Given the description of an element on the screen output the (x, y) to click on. 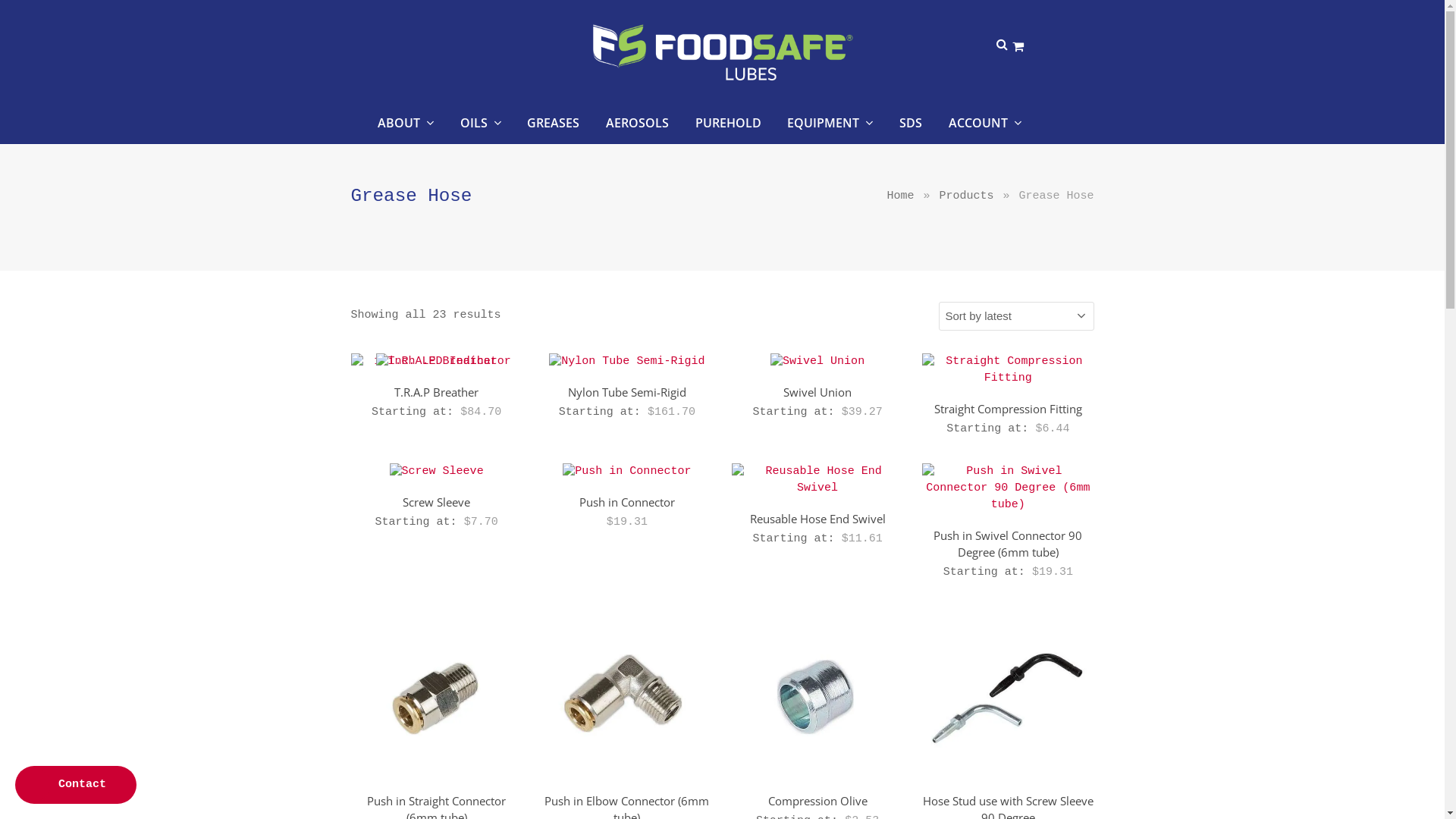
T.R.A.P Breather Element type: text (435, 391)
ACCOUNT Element type: text (984, 125)
OILS Element type: text (480, 125)
Home Element type: text (899, 195)
EQUIPMENT Element type: text (830, 125)
GREASES Element type: text (553, 125)
Reusable Hose End Swivel Element type: text (817, 518)
Push in Connector Element type: text (626, 501)
Swivel Union Element type: text (817, 391)
Compression Olive Element type: text (817, 800)
Products Element type: text (965, 195)
PUREHOLD Element type: text (728, 125)
Search Element type: text (24, 13)
AEROSOLS Element type: text (637, 125)
Straight Compression Fitting Element type: text (1007, 408)
ABOUT Element type: text (405, 125)
Contact Element type: text (75, 784)
Screw Sleeve Element type: text (435, 501)
Nylon Tube Semi-Rigid Element type: text (626, 391)
Push in Swivel Connector 90 Degree (6mm tube) Element type: text (1007, 543)
SDS Element type: text (910, 125)
